Given the description of an element on the screen output the (x, y) to click on. 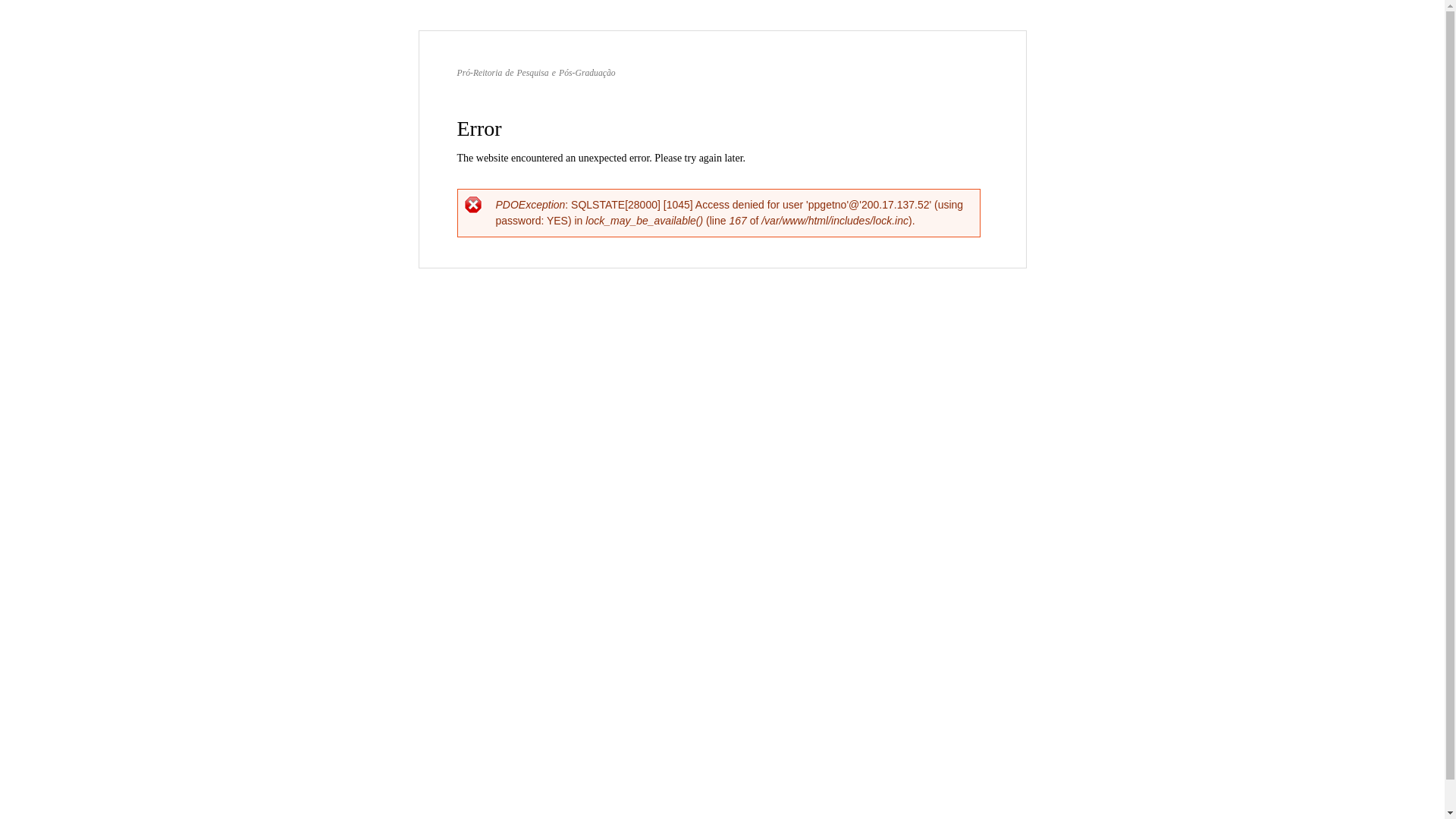
Skip to main content Element type: text (690, 31)
